Given the description of an element on the screen output the (x, y) to click on. 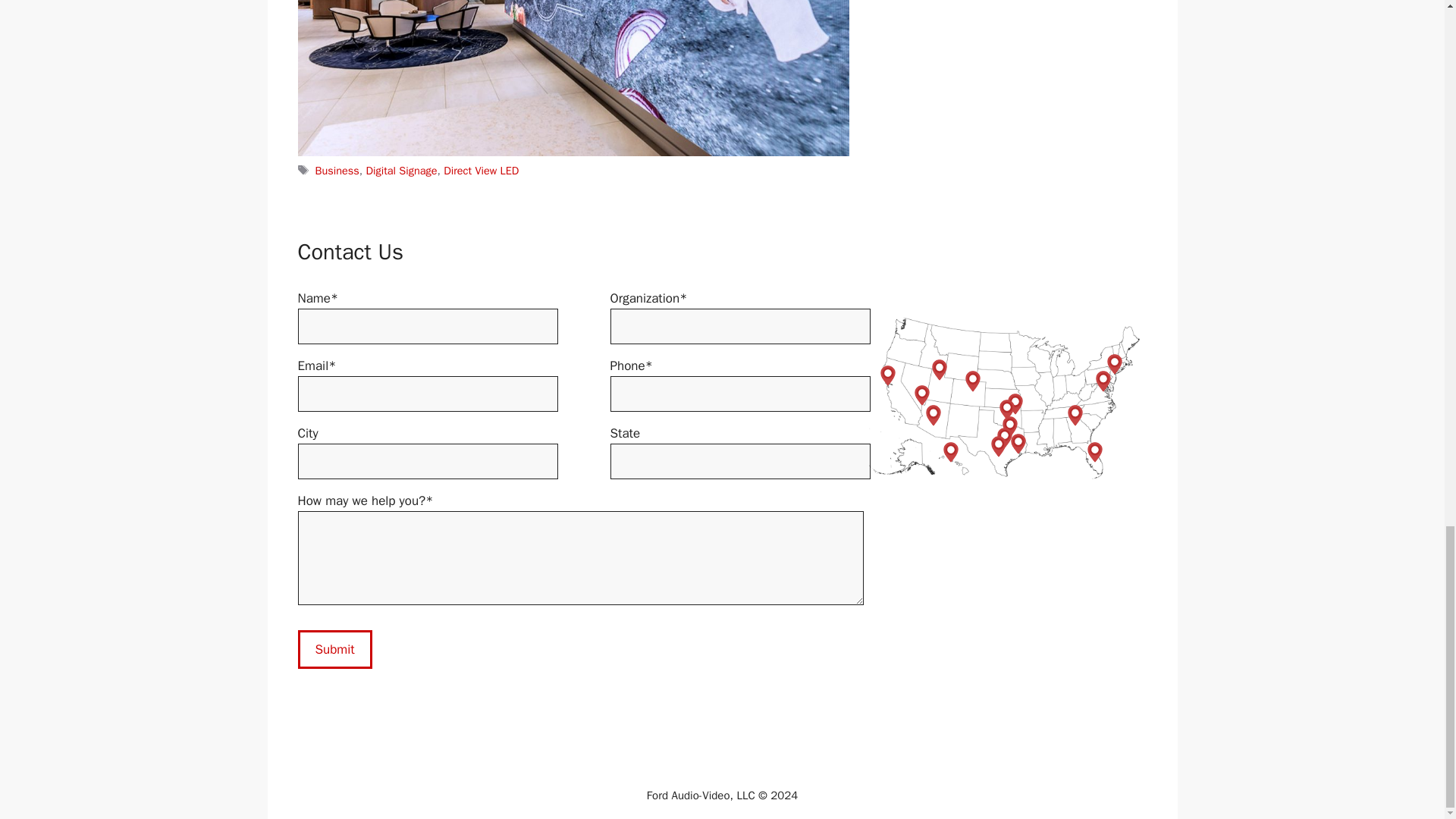
Submit (334, 649)
Business (337, 170)
Digital Signage (402, 170)
Submit (334, 649)
Direct View LED (481, 170)
